Given the description of an element on the screen output the (x, y) to click on. 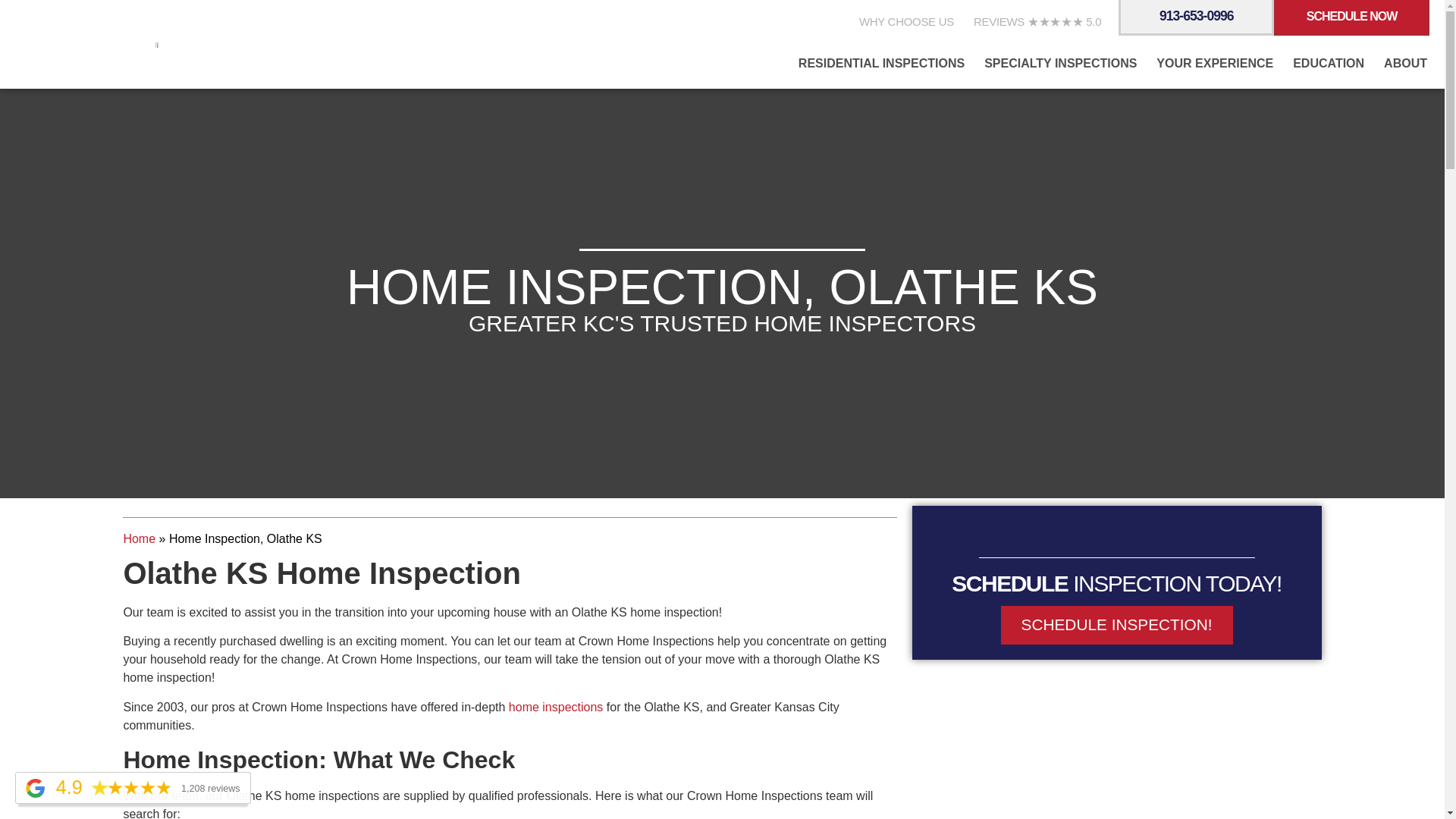
Powered by Google (35, 787)
